Given the description of an element on the screen output the (x, y) to click on. 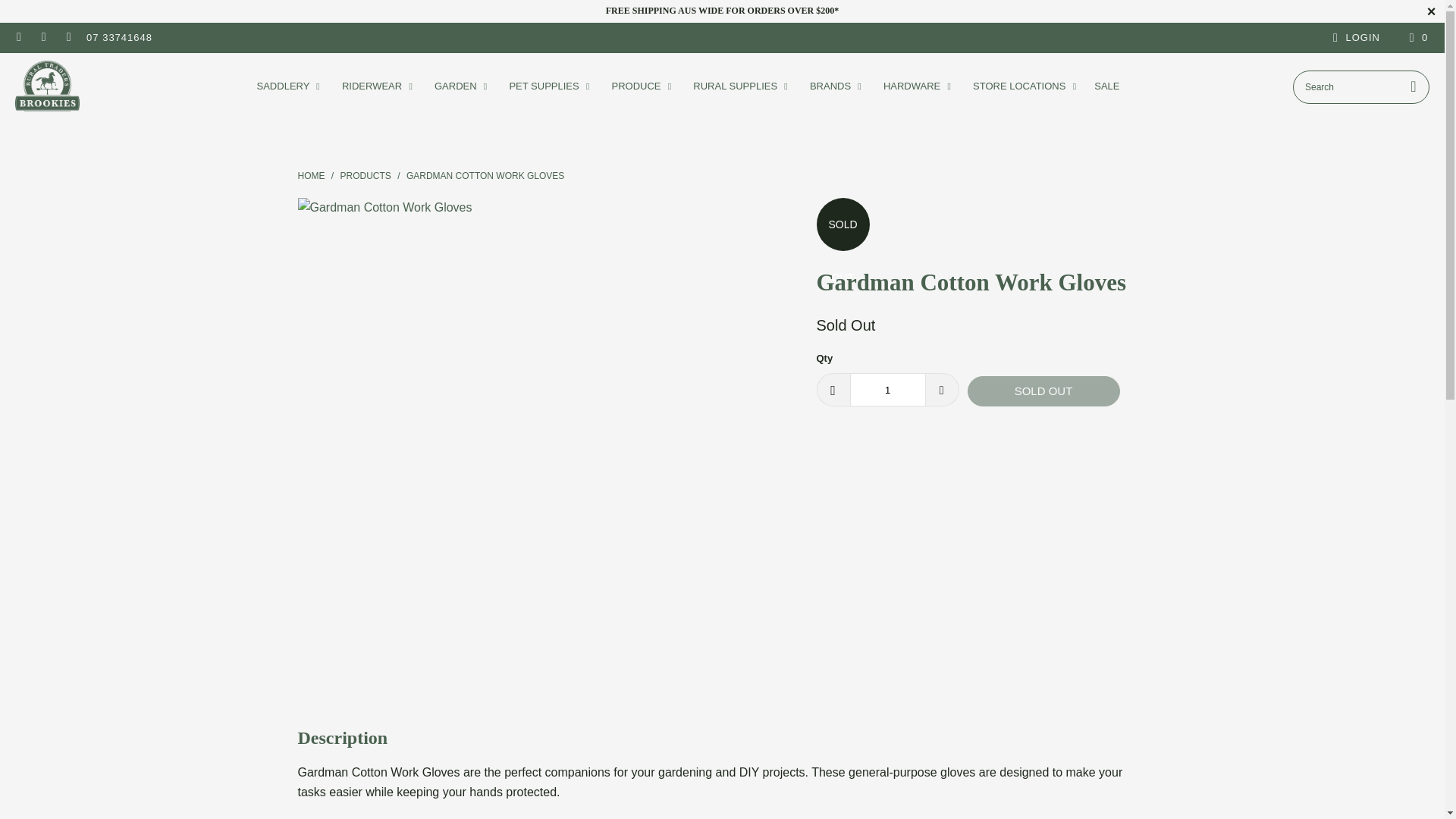
Brookies Rural Traders on Instagram (42, 37)
1 (886, 389)
Brookies Rural Traders (47, 86)
My Account  (1353, 37)
Brookies Rural Traders on Facebook (17, 37)
Products (365, 175)
Brookies Rural Traders (310, 175)
Brookies Rural Traders on YouTube (68, 37)
